Given the description of an element on the screen output the (x, y) to click on. 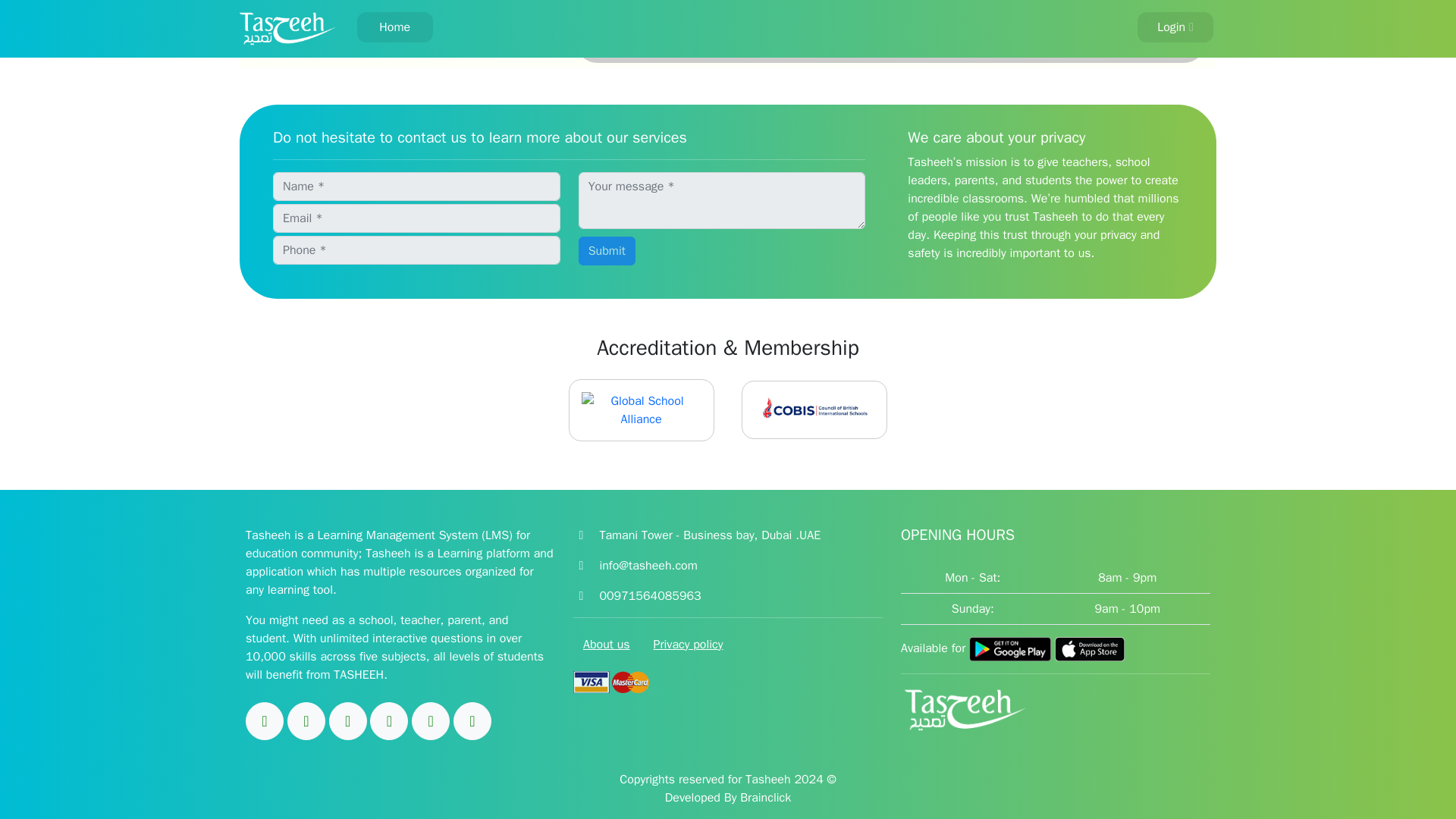
Submit (606, 250)
Brainclick (764, 797)
About us (606, 644)
Submit (606, 250)
Privacy policy (687, 644)
